Given the description of an element on the screen output the (x, y) to click on. 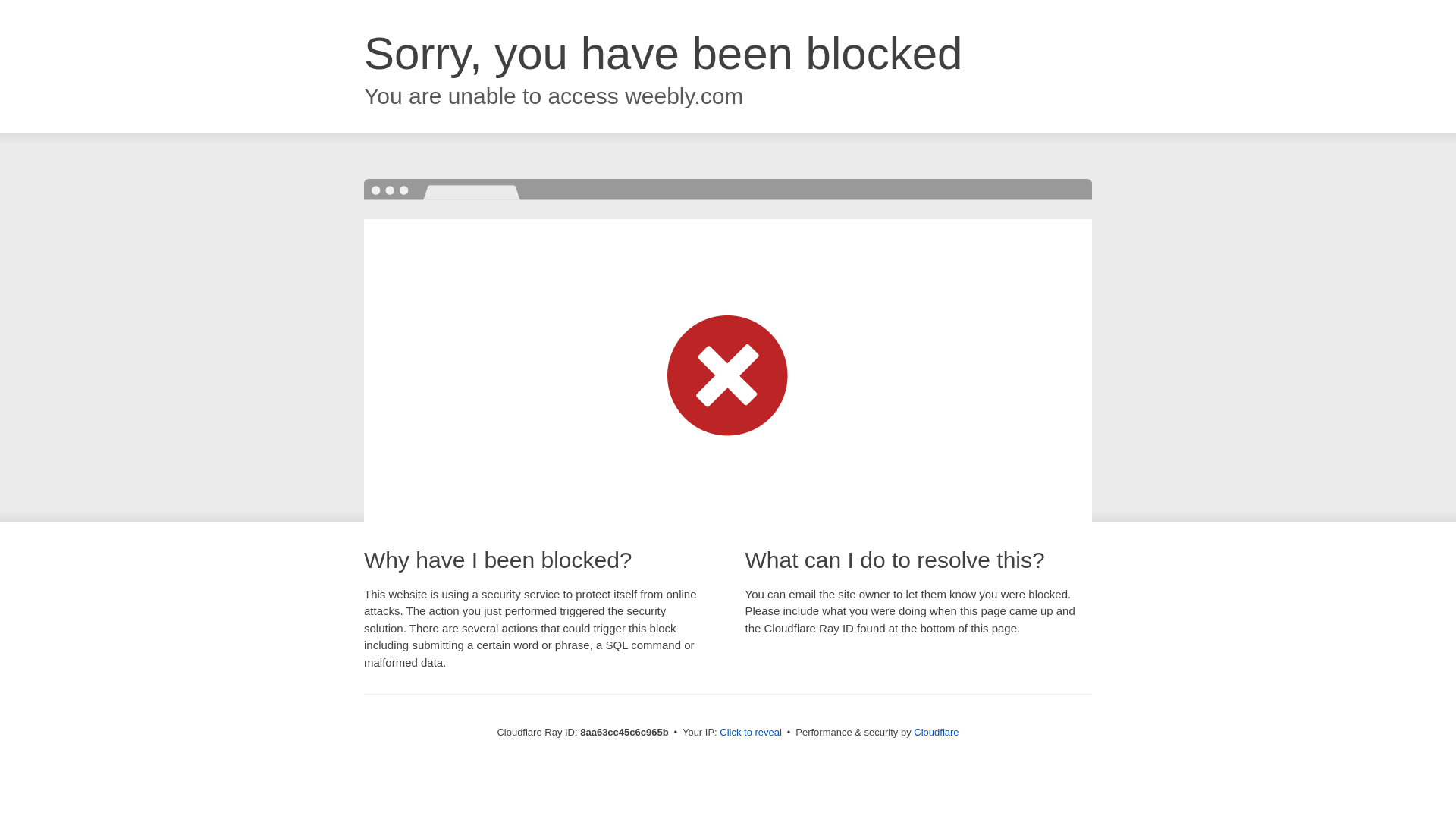
Cloudflare (936, 731)
Click to reveal (750, 732)
